Given the description of an element on the screen output the (x, y) to click on. 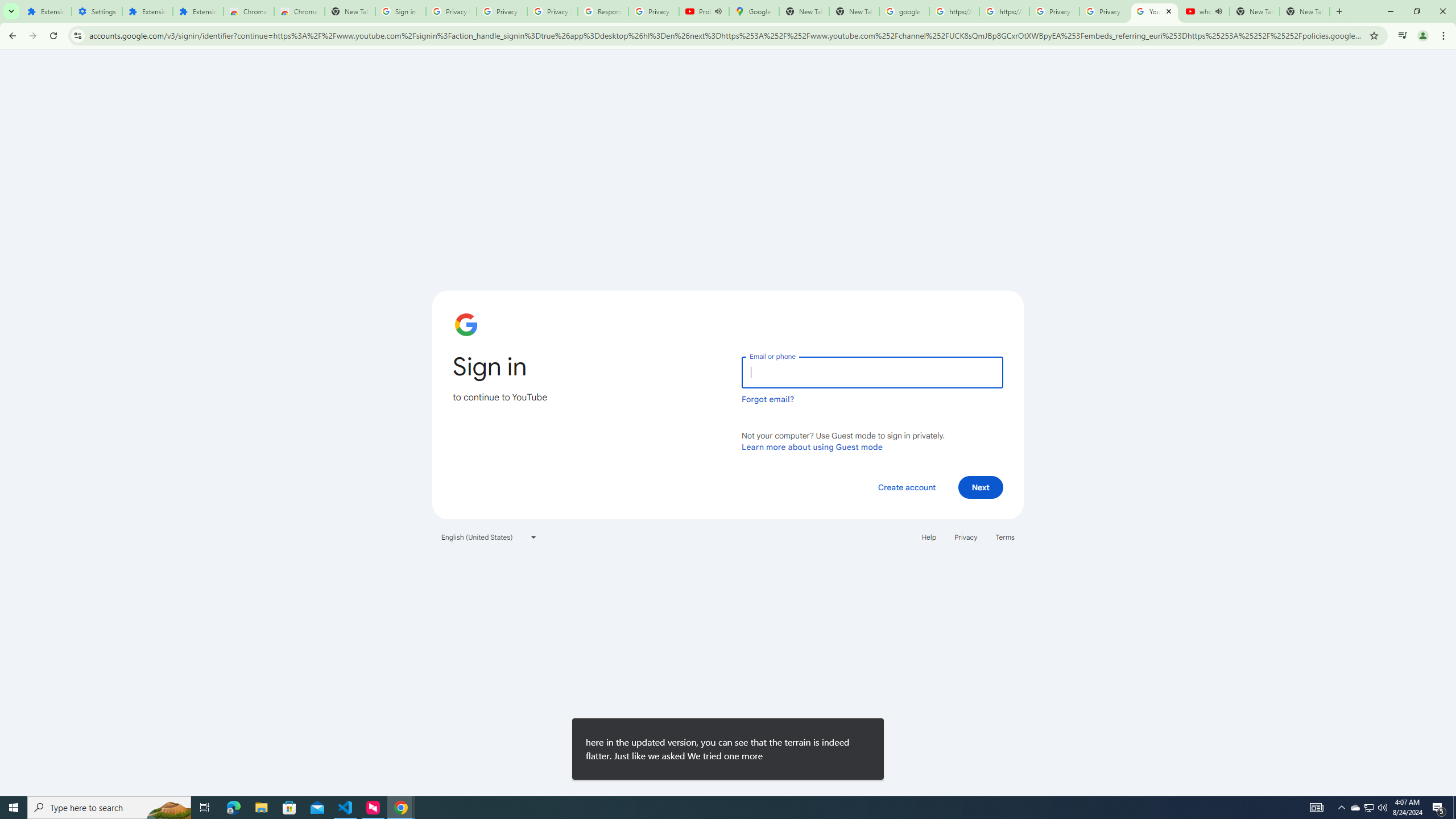
YouTube (1154, 11)
Extensions (146, 11)
Google Maps (753, 11)
Extensions (46, 11)
